Given the description of an element on the screen output the (x, y) to click on. 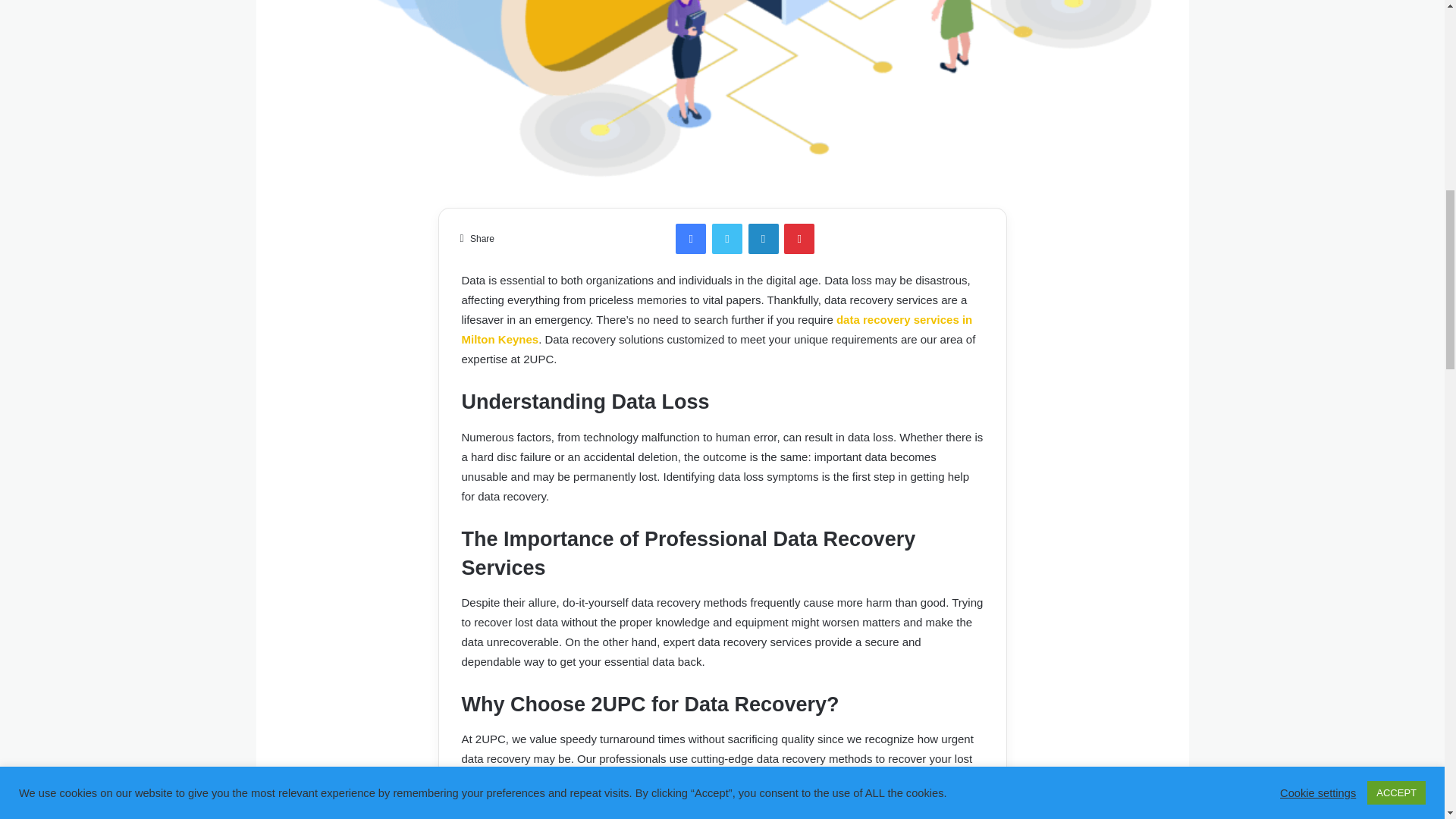
Pinterest (798, 238)
Facebook (690, 238)
LinkedIn (763, 238)
Twitter (726, 238)
